Given the description of an element on the screen output the (x, y) to click on. 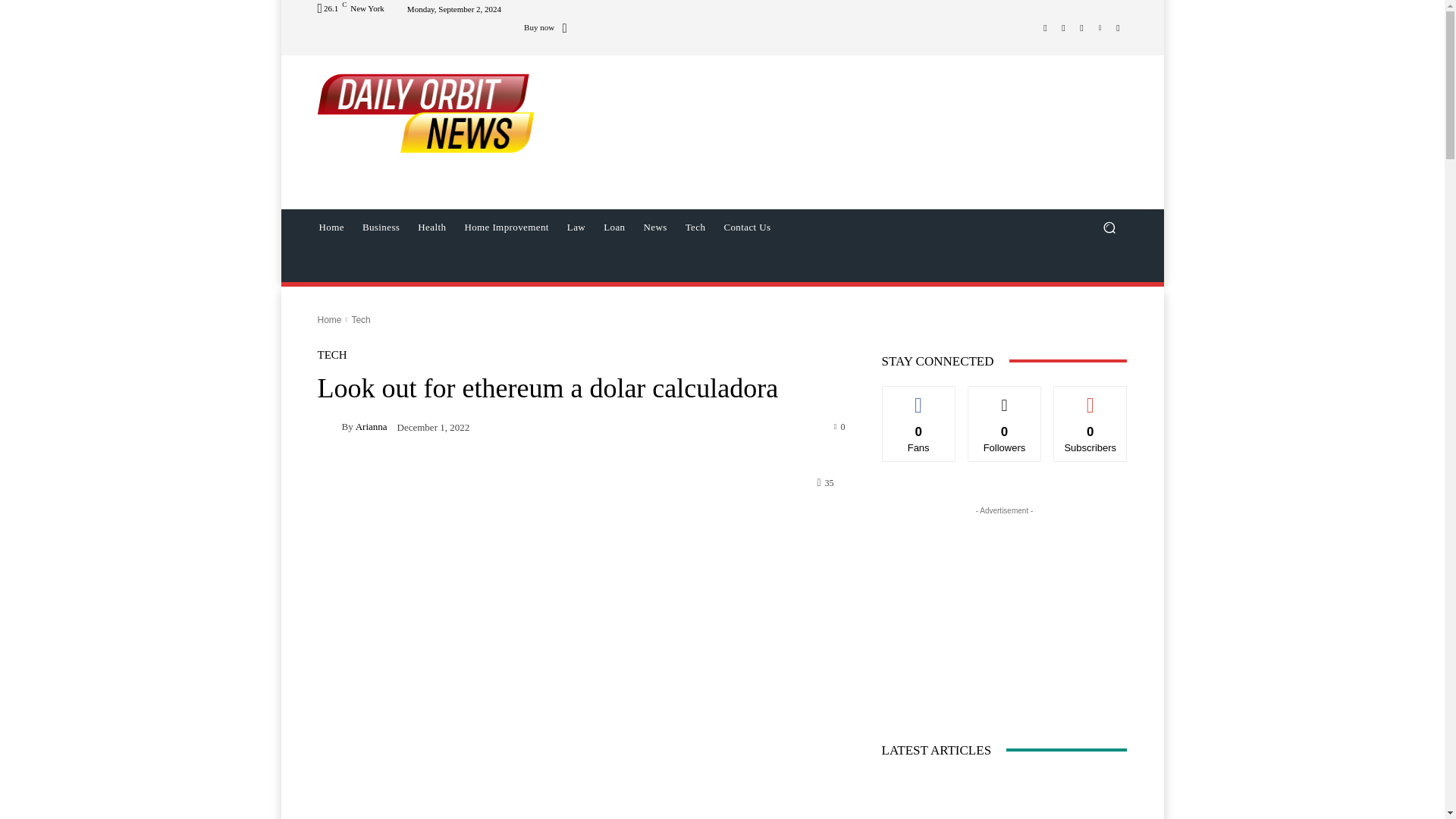
Arianna (328, 426)
Tech (695, 227)
Instagram (1062, 27)
Home (330, 227)
Health (431, 227)
News (654, 227)
Law (575, 227)
Twitter (1080, 27)
Loan (613, 227)
Home Improvement (505, 227)
